Given the description of an element on the screen output the (x, y) to click on. 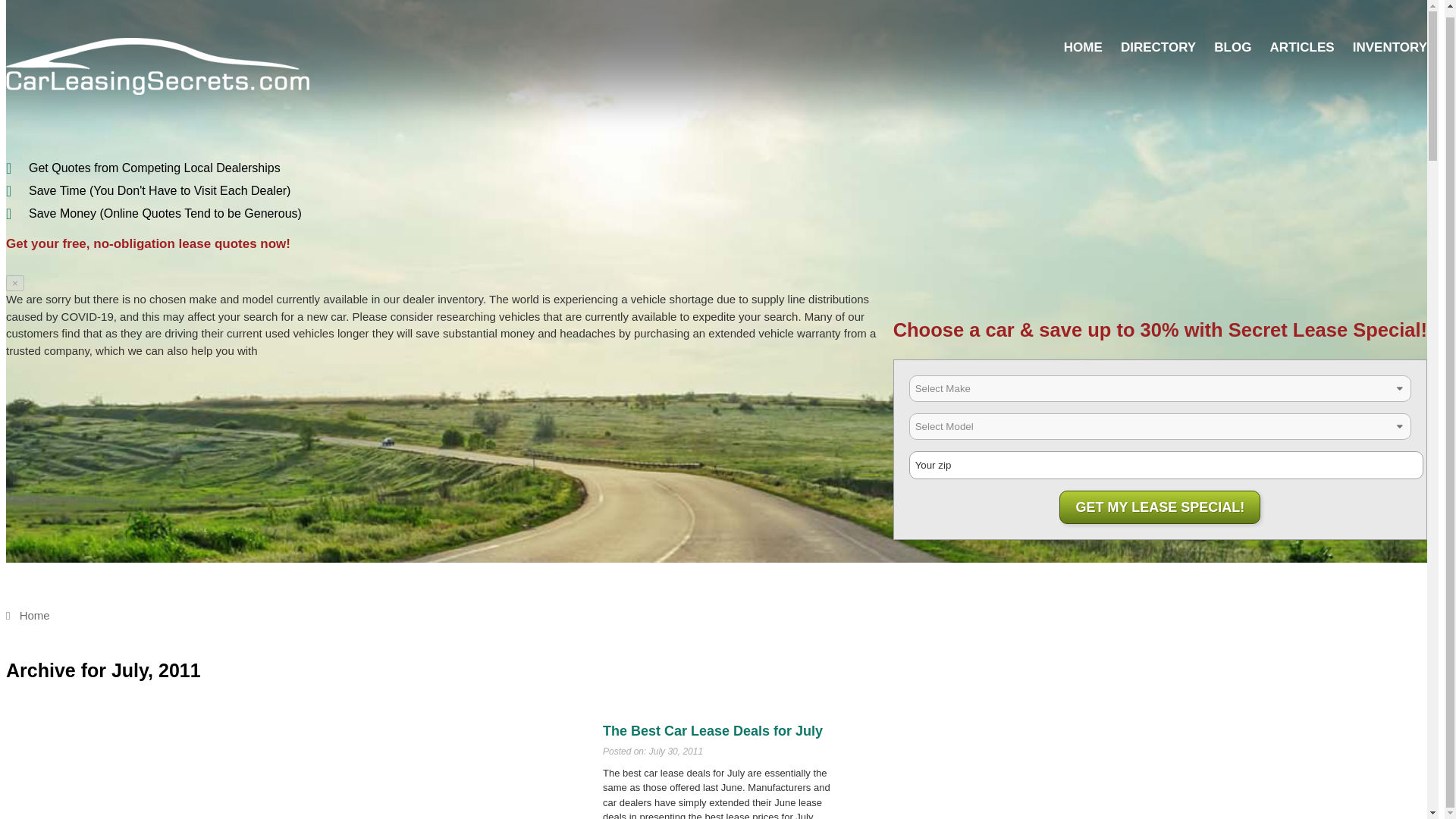
Permanent Link to The Best Car Lease Deals for July (712, 730)
The Best Car Lease Deals for July (712, 730)
Get My Lease Special! (1159, 507)
Home (27, 615)
Get your free, no-obligation lease quotes now! (147, 243)
ARTICLES (1302, 47)
DIRECTORY (1158, 47)
HOME (1083, 47)
BLOG (1232, 47)
Get My Lease Special! (1159, 507)
